Given the description of an element on the screen output the (x, y) to click on. 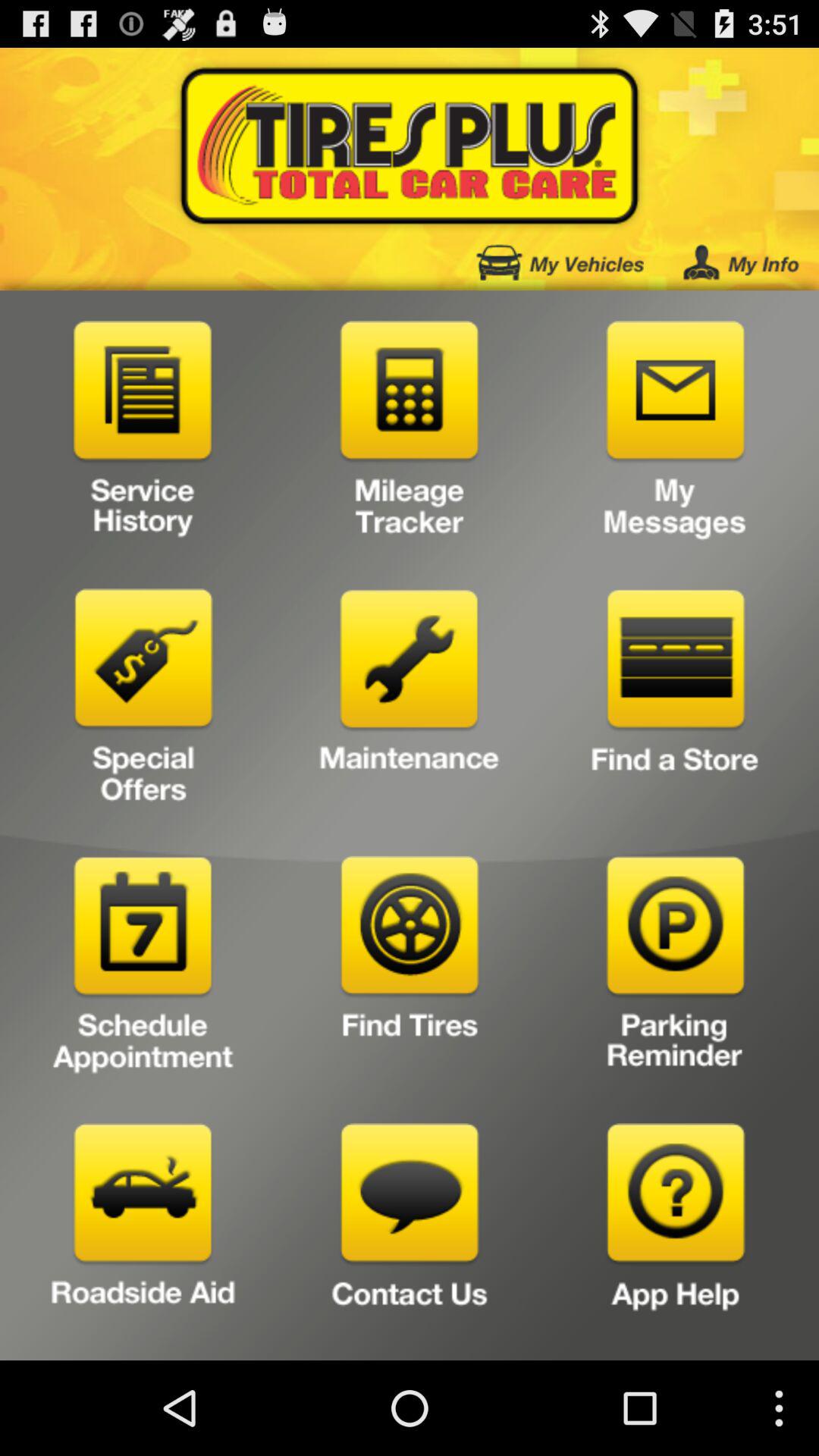
go to my vehicles section (559, 262)
